Given the description of an element on the screen output the (x, y) to click on. 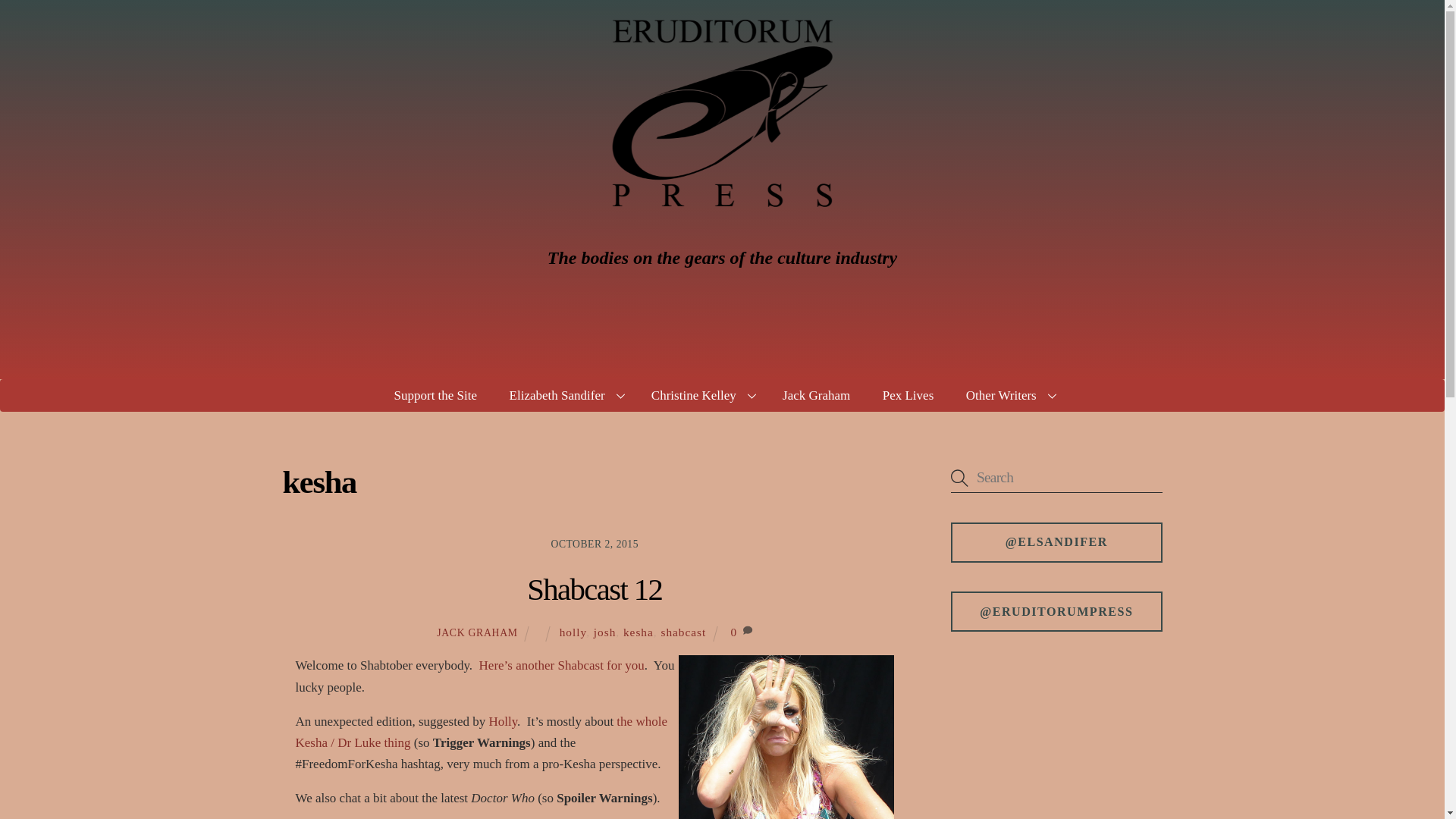
Search (1055, 477)
Shabcast 12 (594, 589)
Other Writers (1008, 395)
Support the Site (435, 395)
JACK GRAHAM (477, 632)
holly (572, 631)
Elizabeth Sandifer (563, 395)
Christine Kelley (700, 395)
Jack Graham (816, 395)
Pex Lives (907, 395)
josh (604, 631)
shabcast (683, 631)
Holly (501, 721)
kesha (638, 631)
